Given the description of an element on the screen output the (x, y) to click on. 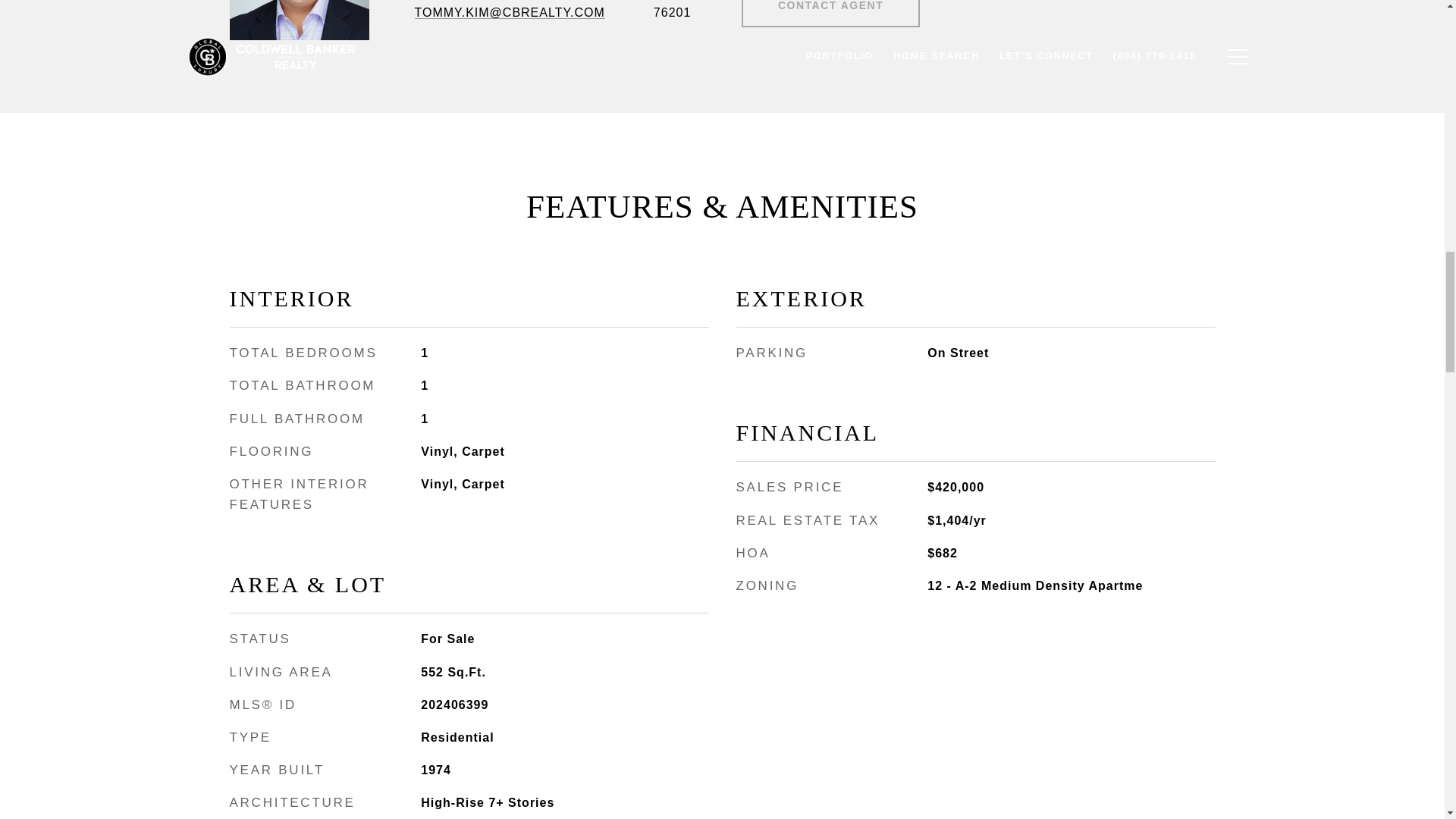
CONTACT AGENT (830, 13)
